Given the description of an element on the screen output the (x, y) to click on. 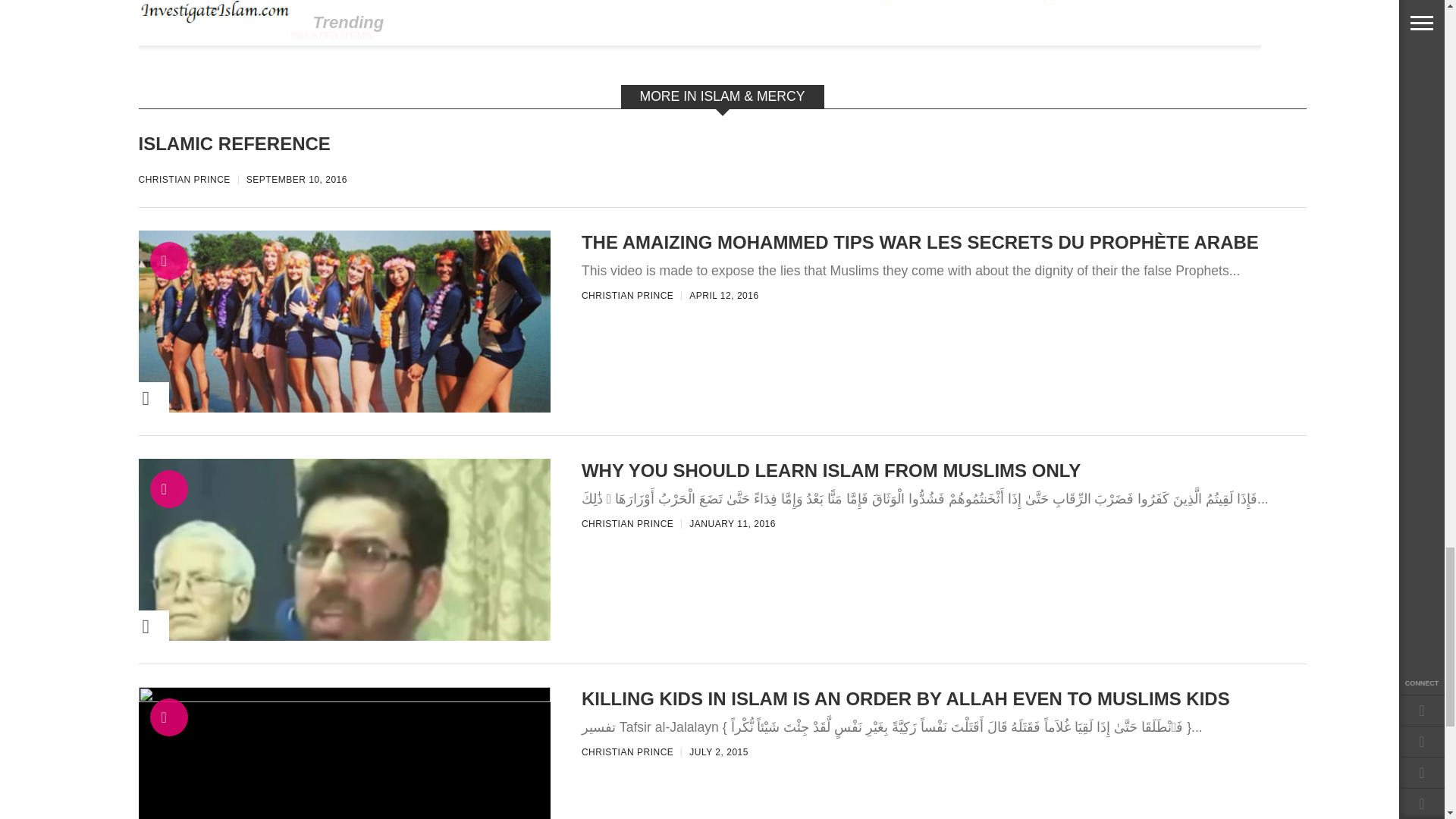
Next post (1016, 5)
Pin This Post (122, 398)
Pin This Post (122, 626)
Why you should learn Islam from Muslims only (344, 701)
Prev post (920, 5)
ISLAMIC REFERENCE (500, 143)
